Given the description of an element on the screen output the (x, y) to click on. 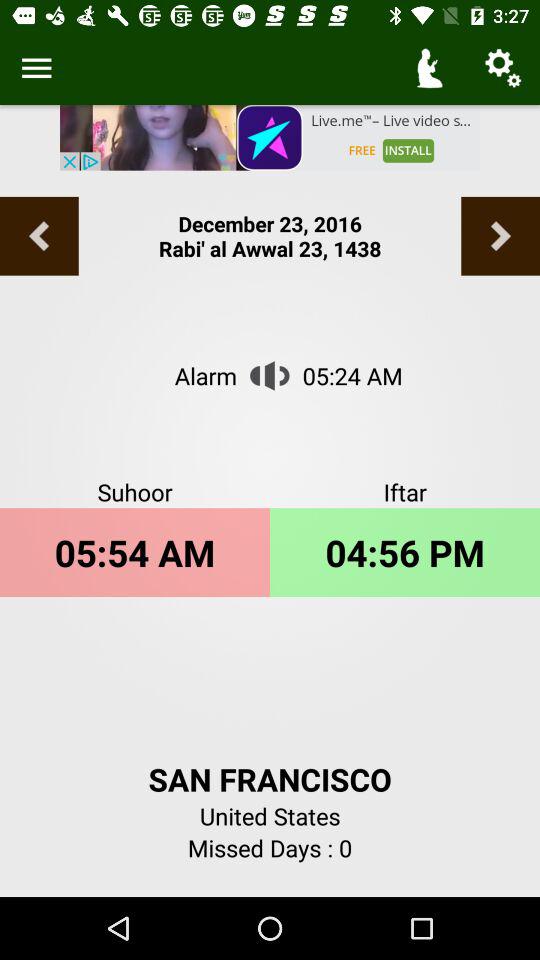
select previous screen (39, 235)
